Given the description of an element on the screen output the (x, y) to click on. 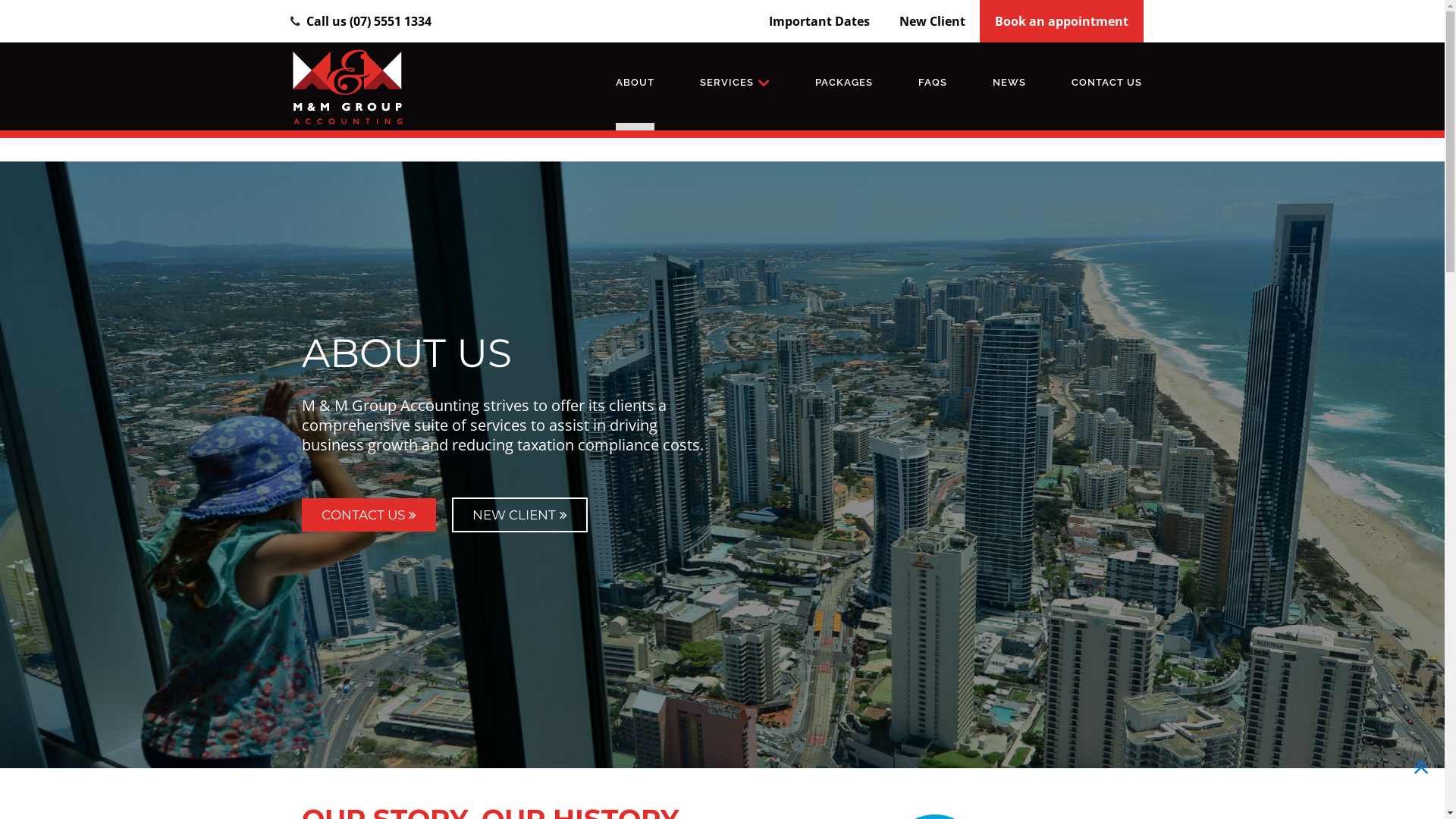
SERVICES Element type: text (734, 82)
Important Dates Element type: text (818, 20)
CONTACT US Element type: text (368, 514)
PACKAGES Element type: text (843, 82)
Book an appointment Element type: text (1061, 20)
ABOUT Element type: text (634, 86)
Skip to content Element type: text (43, 52)
Back To Top Element type: hover (1421, 770)
New Client Element type: text (932, 20)
NEW CLIENT Element type: text (519, 514)
NEWS Element type: text (1009, 82)
FAQS Element type: text (932, 82)
Call us (07) 5551 1334 Element type: text (368, 20)
CONTACT US Element type: text (1106, 82)
